Given the description of an element on the screen output the (x, y) to click on. 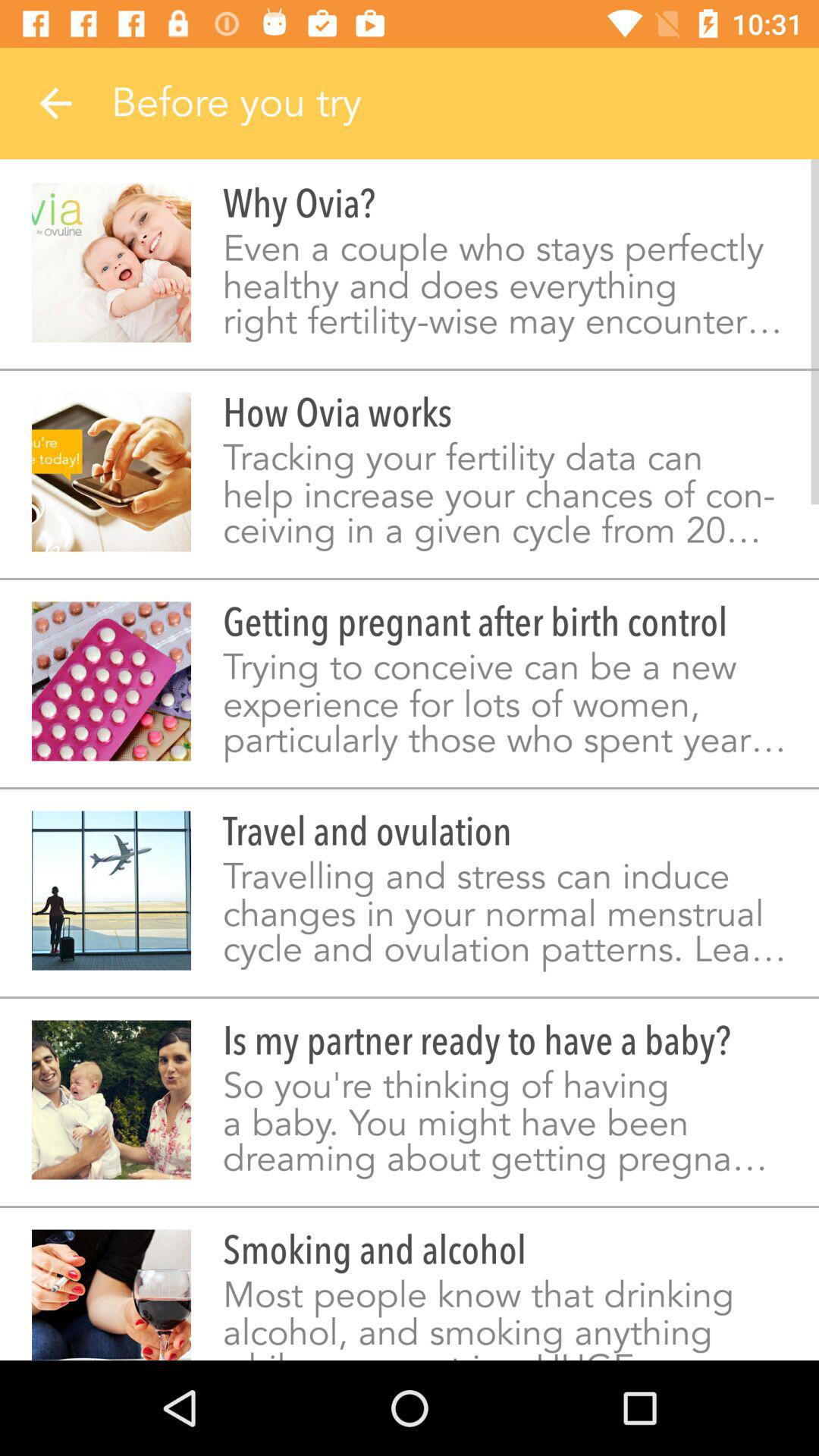
open item to the left of before you try icon (55, 103)
